Given the description of an element on the screen output the (x, y) to click on. 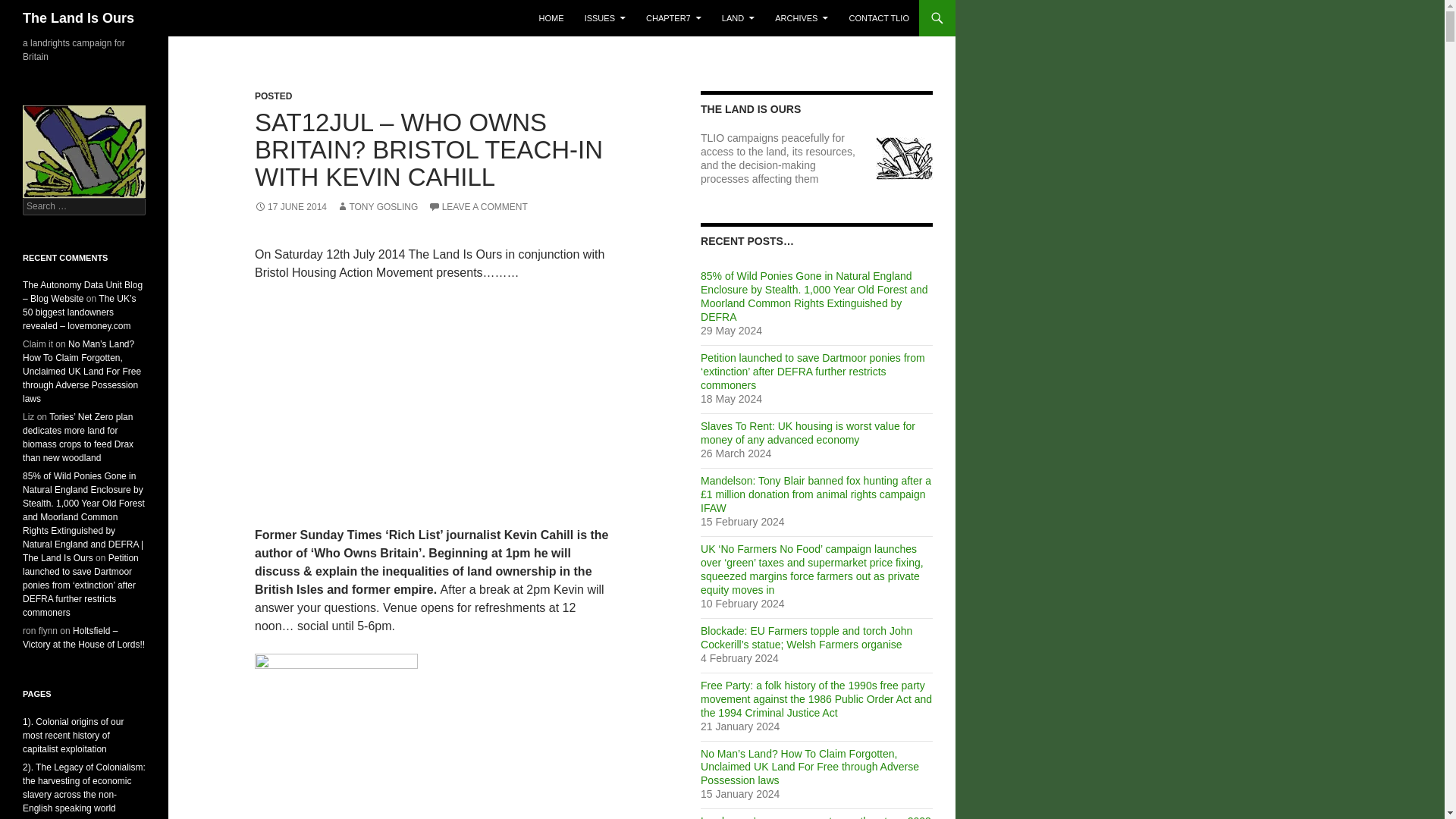
ISSUES (604, 18)
CHAPTER7 (673, 18)
The Land Is Ours (78, 18)
HOME (551, 18)
ARCHIVES (801, 18)
LAND (737, 18)
